Given the description of an element on the screen output the (x, y) to click on. 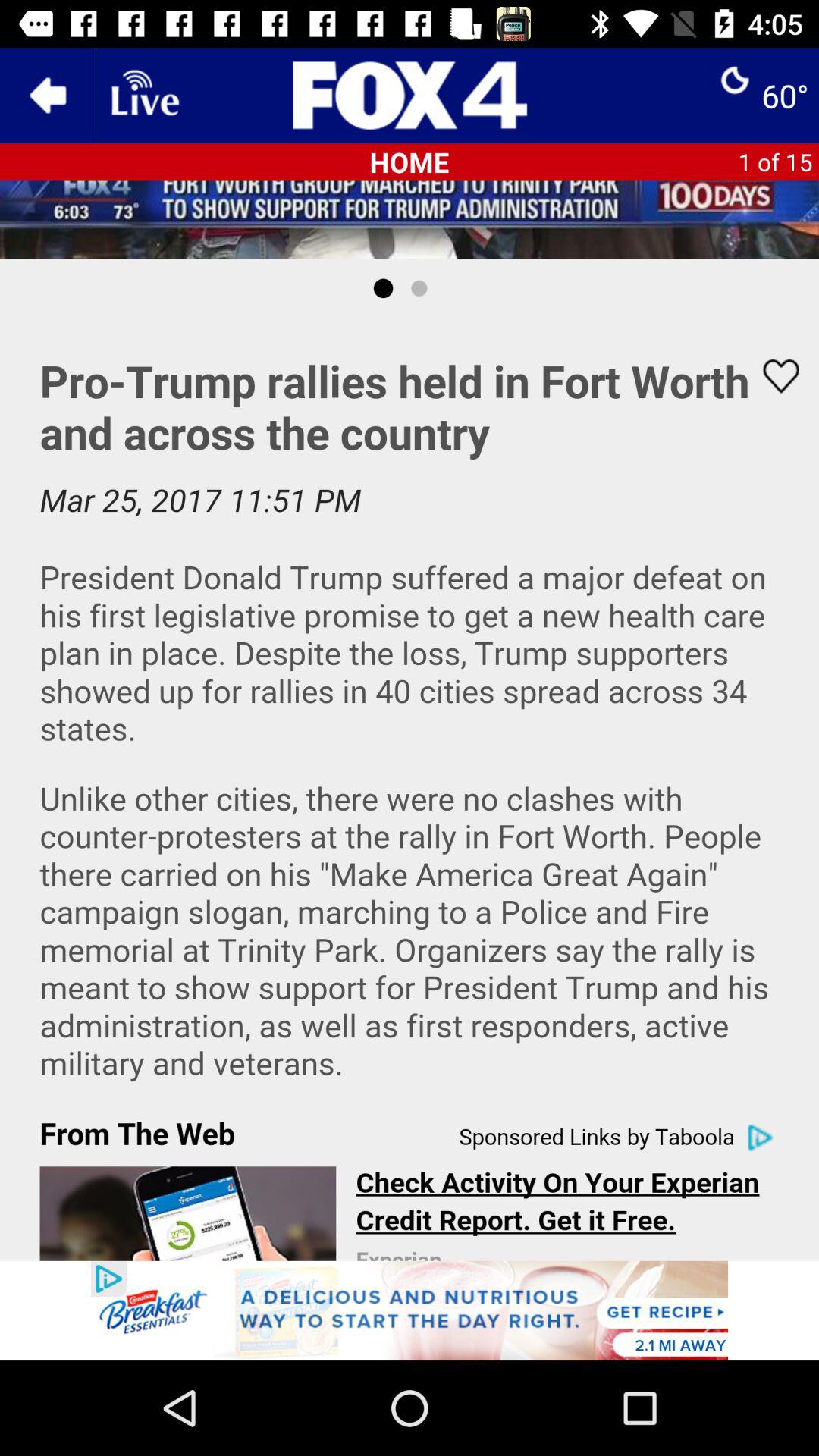
launch advertisement link (409, 1310)
